Given the description of an element on the screen output the (x, y) to click on. 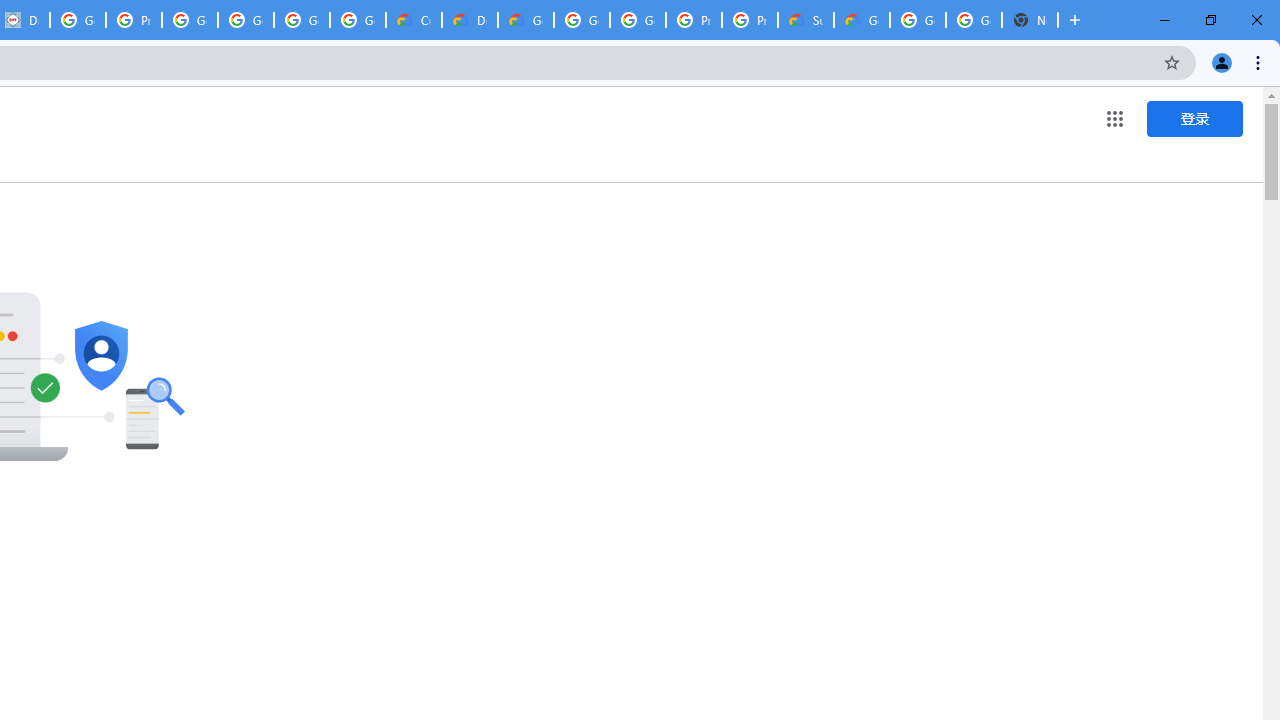
Gemini for Business and Developers | Google Cloud (525, 20)
New Tab (1030, 20)
Google Cloud Platform (637, 20)
Google Cloud Platform (973, 20)
Google Cloud Service Health (861, 20)
Google Workspace - Specific Terms (301, 20)
Support Hub | Google Cloud (806, 20)
